Given the description of an element on the screen output the (x, y) to click on. 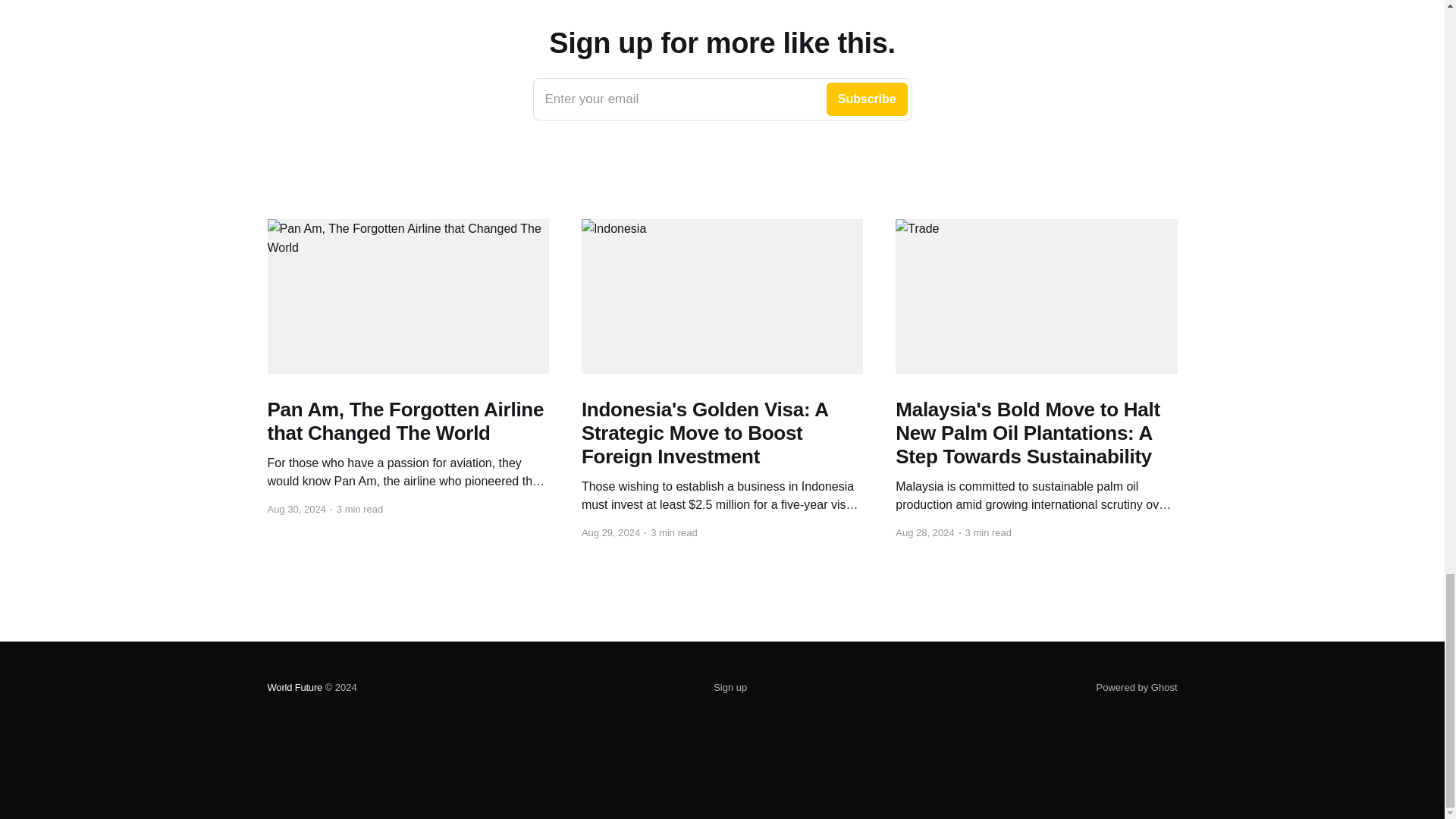
World Future (721, 98)
Sign up (293, 686)
Powered by Ghost (729, 687)
